Given the description of an element on the screen output the (x, y) to click on. 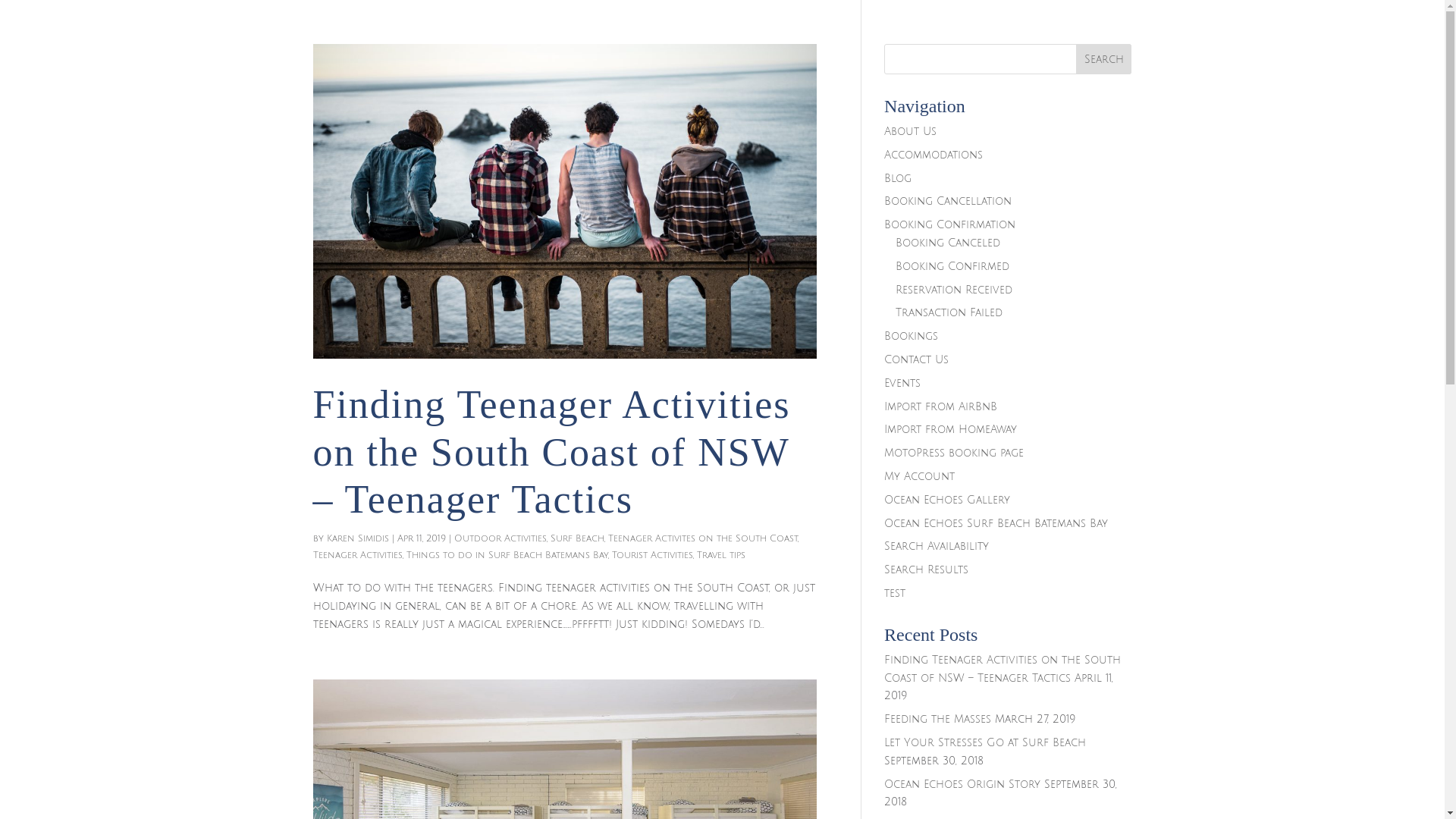
Booking Cancellation Element type: text (947, 201)
Teenager Activites on the South Coast Element type: text (702, 538)
Surf Beach Element type: text (577, 538)
Feeding the Masses Element type: text (937, 718)
Booking Confirmation Element type: text (949, 224)
Events Element type: text (902, 383)
Blog Element type: text (897, 178)
Ocean Echoes Origin Story Element type: text (962, 784)
Contact Us Element type: text (916, 359)
My Account Element type: text (919, 476)
Karen Simidis Element type: text (357, 538)
Search Availability Element type: text (936, 546)
Search Element type: text (1104, 58)
Ocean Echoes Surf Beach Batemans Bay Element type: text (995, 523)
Reservation Received Element type: text (953, 289)
Tourist Activities Element type: text (651, 555)
Search Results Element type: text (926, 569)
Bookings Element type: text (911, 336)
Travel tips Element type: text (720, 555)
Outdoor Activities Element type: text (499, 538)
Import from HomeAway Element type: text (950, 429)
Things to do in Surf Beach Batemans Bay Element type: text (507, 555)
Ocean Echoes Gallery Element type: text (947, 499)
Let Your Stresses Go at Surf Beach Element type: text (984, 742)
Accommodations Element type: text (933, 154)
Transaction Failed Element type: text (948, 312)
Booking Confirmed Element type: text (952, 266)
About Us Element type: text (910, 131)
test Element type: text (894, 593)
Booking Canceled Element type: text (947, 242)
Import from AirBnB Element type: text (940, 406)
Teenager Activities Element type: text (356, 555)
MotoPress booking page Element type: text (953, 452)
